Given the description of an element on the screen output the (x, y) to click on. 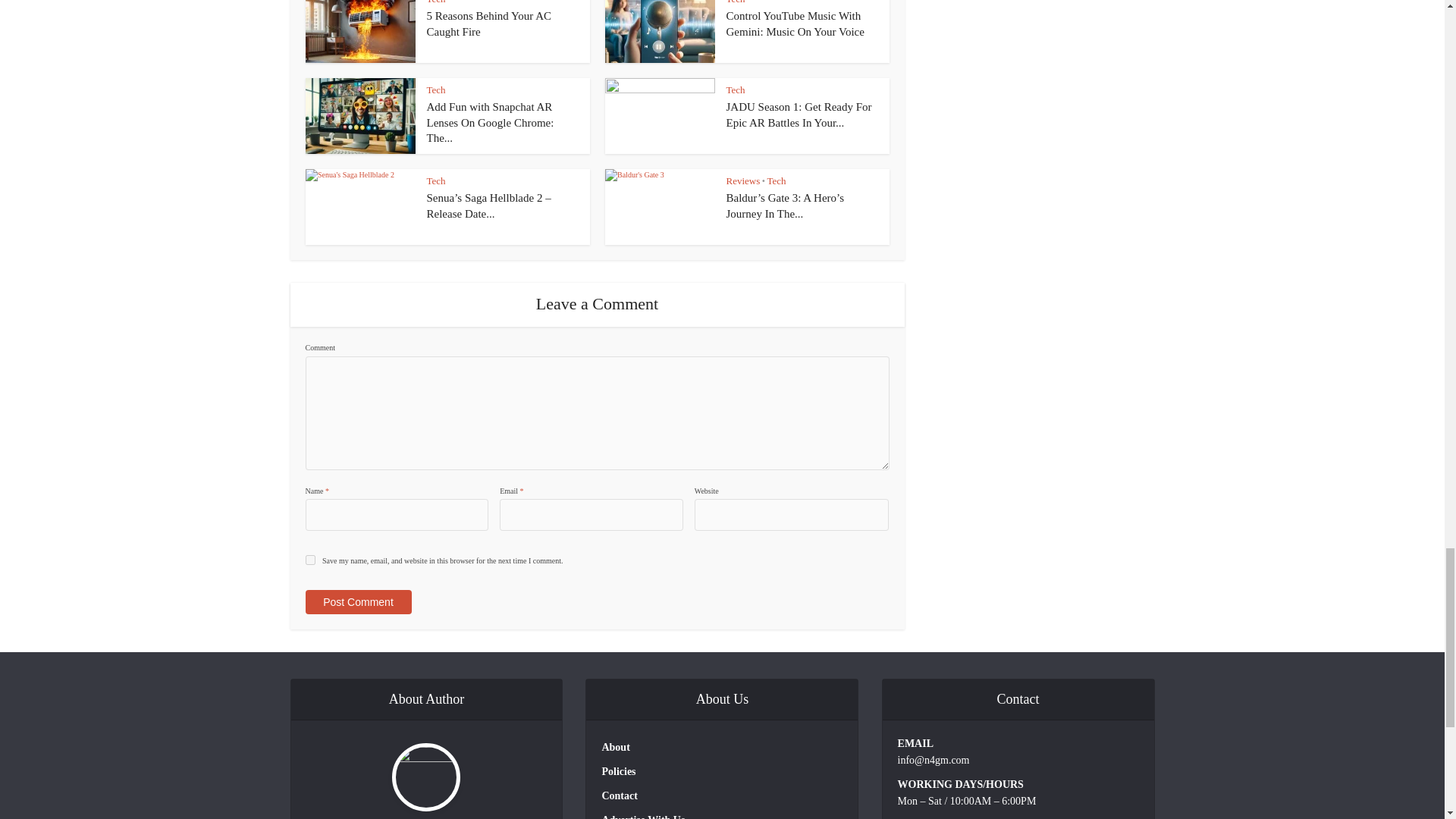
Post Comment (357, 601)
Control YouTube Music With Gemini: Music On Your Voice (795, 22)
5 Reasons Behind Your AC Caught Fire (488, 22)
yes (309, 560)
JADU Season 1: Get Ready For Epic AR Battles In Your Room (799, 113)
